Given the description of an element on the screen output the (x, y) to click on. 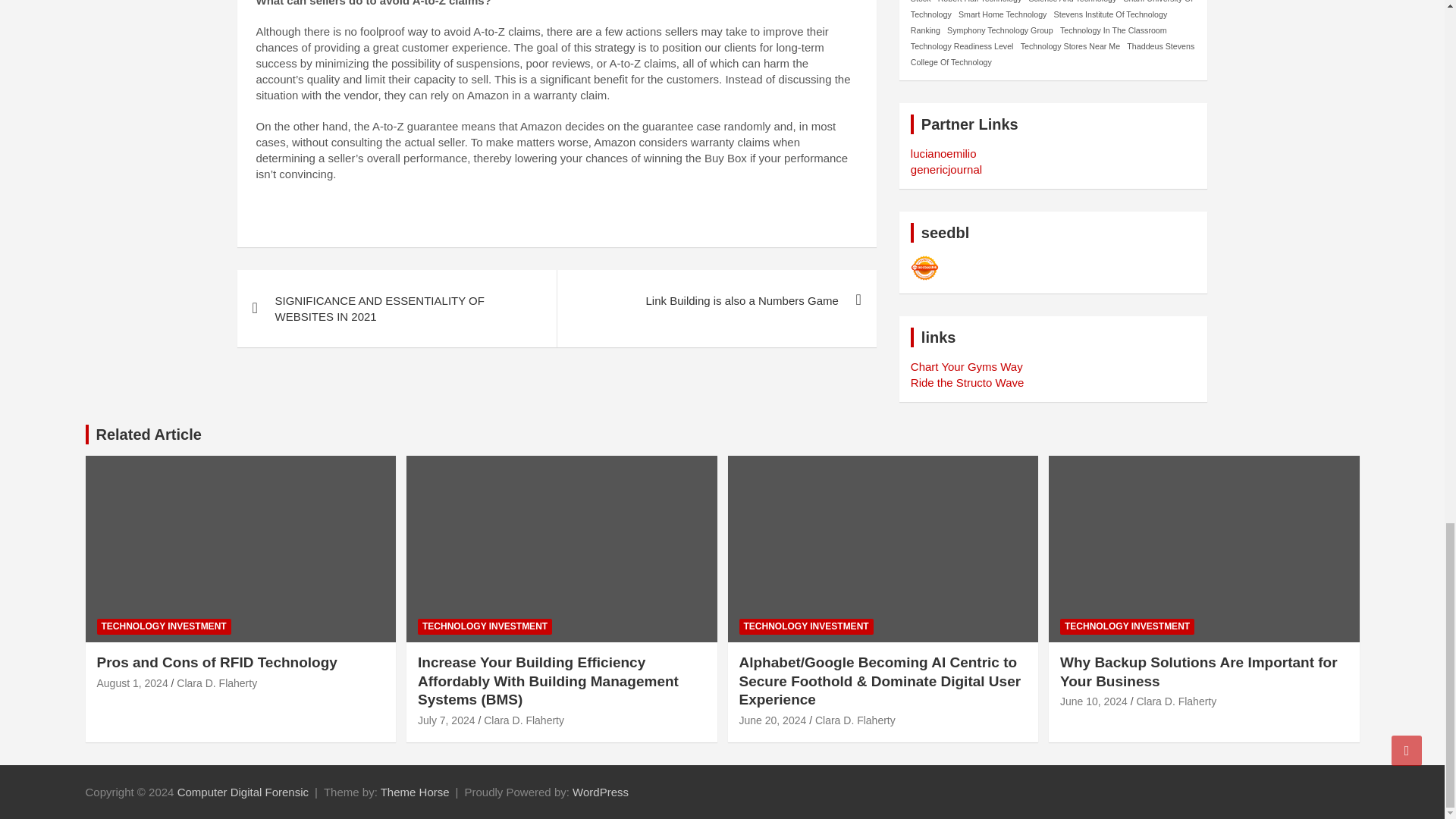
Pros and Cons of RFID Technology (132, 683)
Link Building is also a Numbers Game (716, 300)
Seedbacklink (925, 267)
Why Backup Solutions Are Important for Your Business (1092, 701)
WordPress (600, 791)
SIGNIFICANCE AND ESSENTIALITY OF WEBSITES IN 2021 (395, 308)
Computer Digital Forensic (242, 791)
Theme Horse (414, 791)
